Given the description of an element on the screen output the (x, y) to click on. 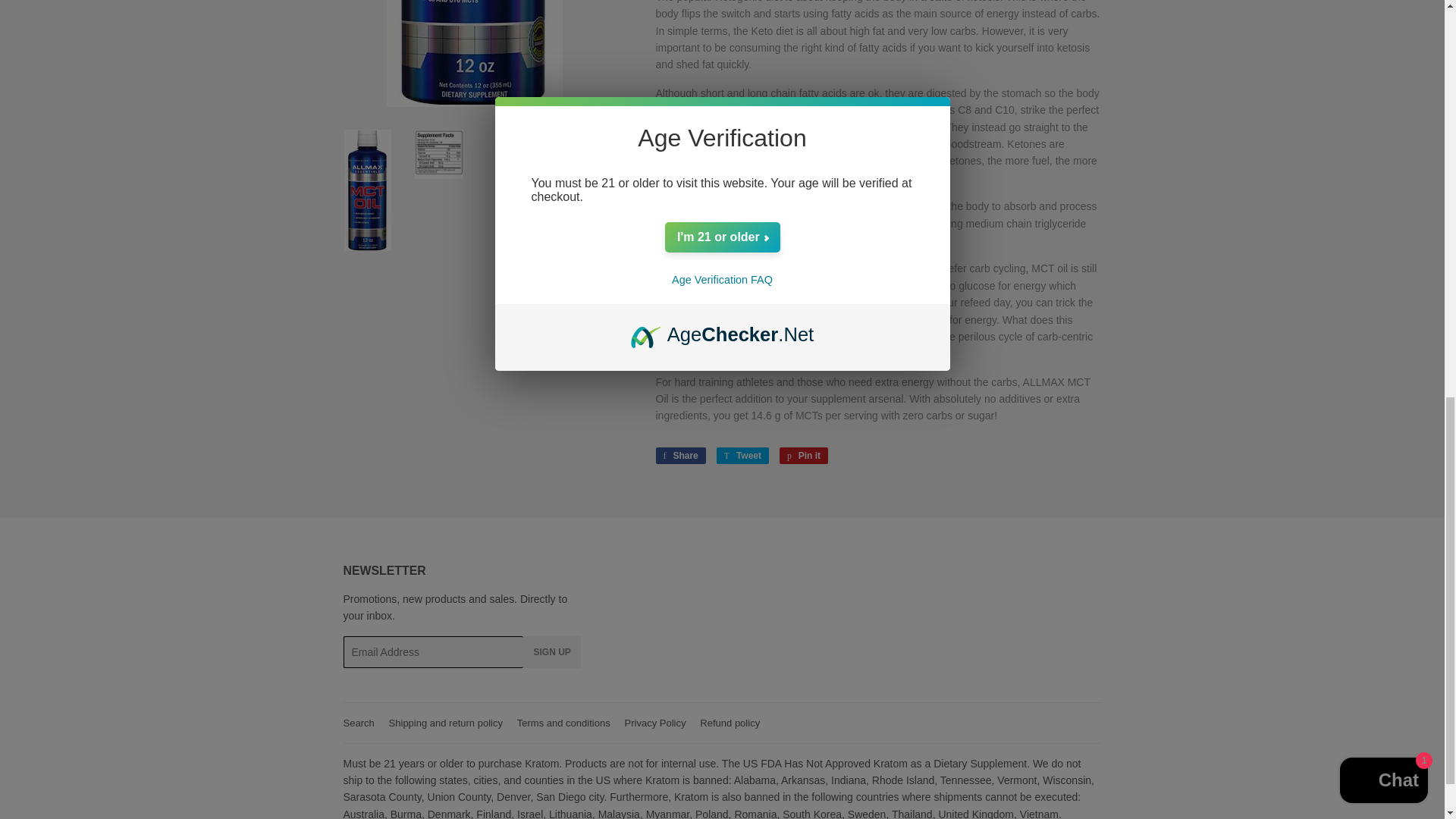
Pin on Pinterest (803, 455)
Share on Facebook (679, 455)
Tweet on Twitter (742, 455)
